Given the description of an element on the screen output the (x, y) to click on. 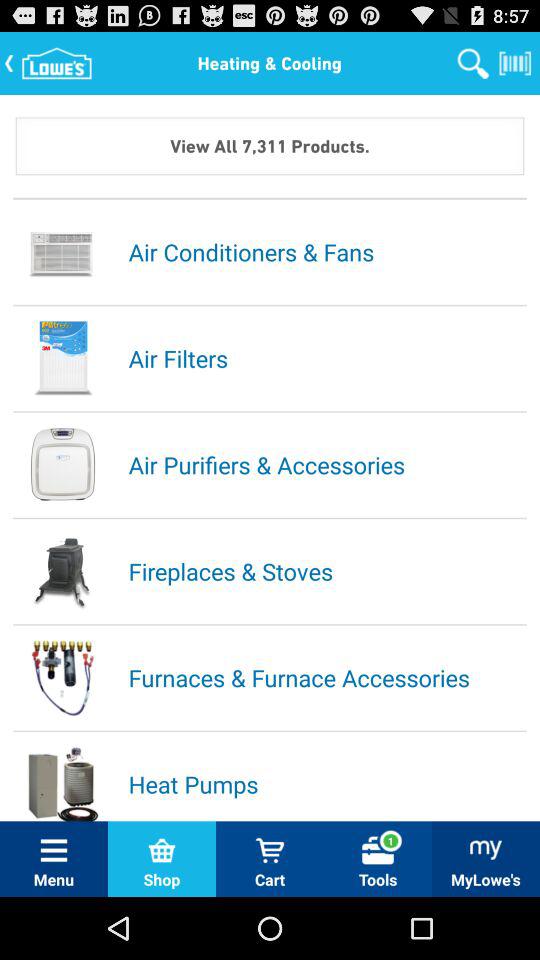
launch the air purifiers & accessories item (326, 464)
